Given the description of an element on the screen output the (x, y) to click on. 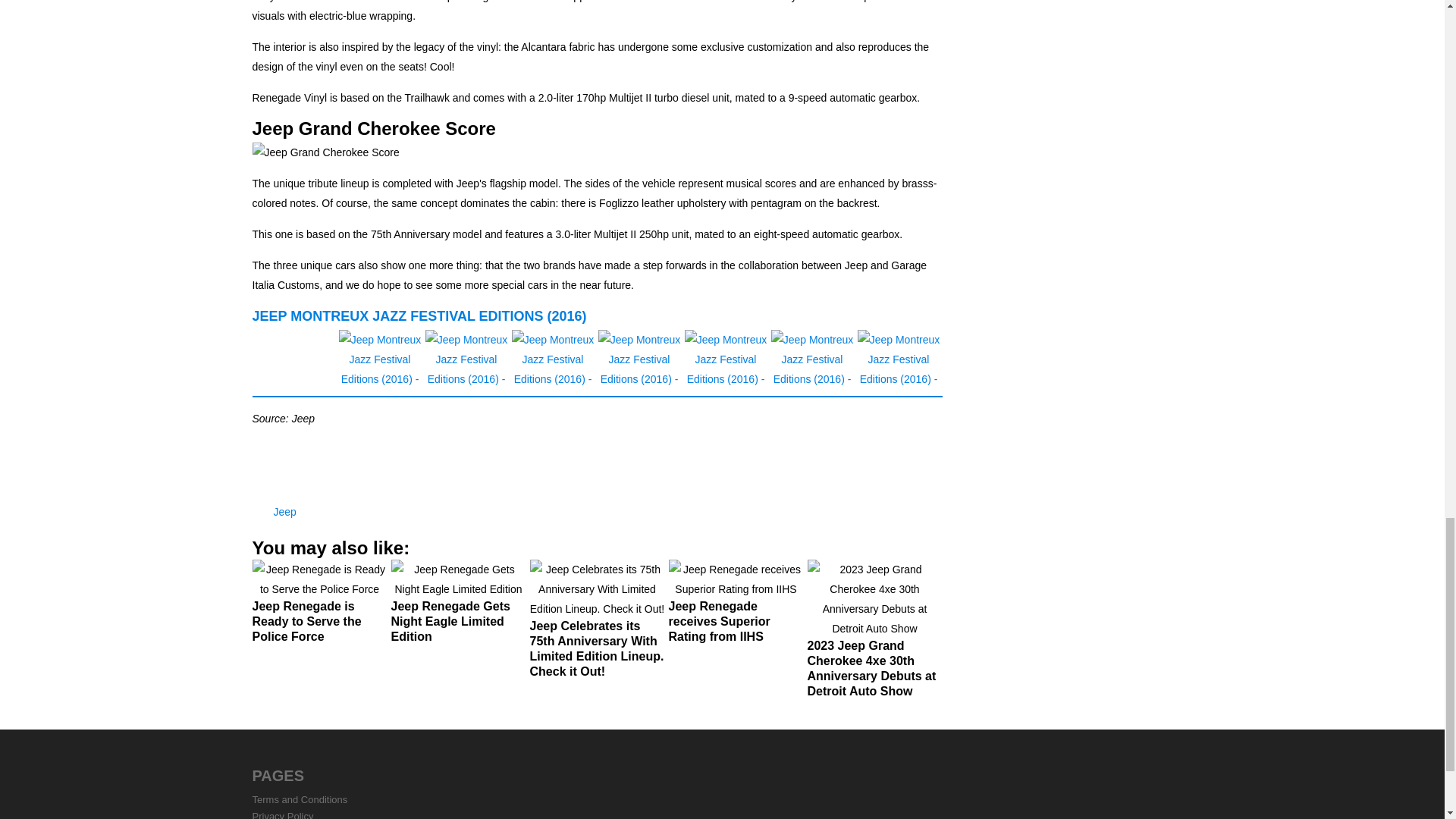
Privacy Policy (282, 814)
Jeep Renegade receives Superior Rating from IIHS (735, 607)
Terms and Conditions (299, 799)
Jeep Renegade is Ready to Serve the Police Force (319, 607)
Terms and Conditions (299, 799)
Jeep Renegade Gets Night Eagle Limited Edition (458, 607)
Jeep (284, 511)
Privacy Policy (282, 814)
